Given the description of an element on the screen output the (x, y) to click on. 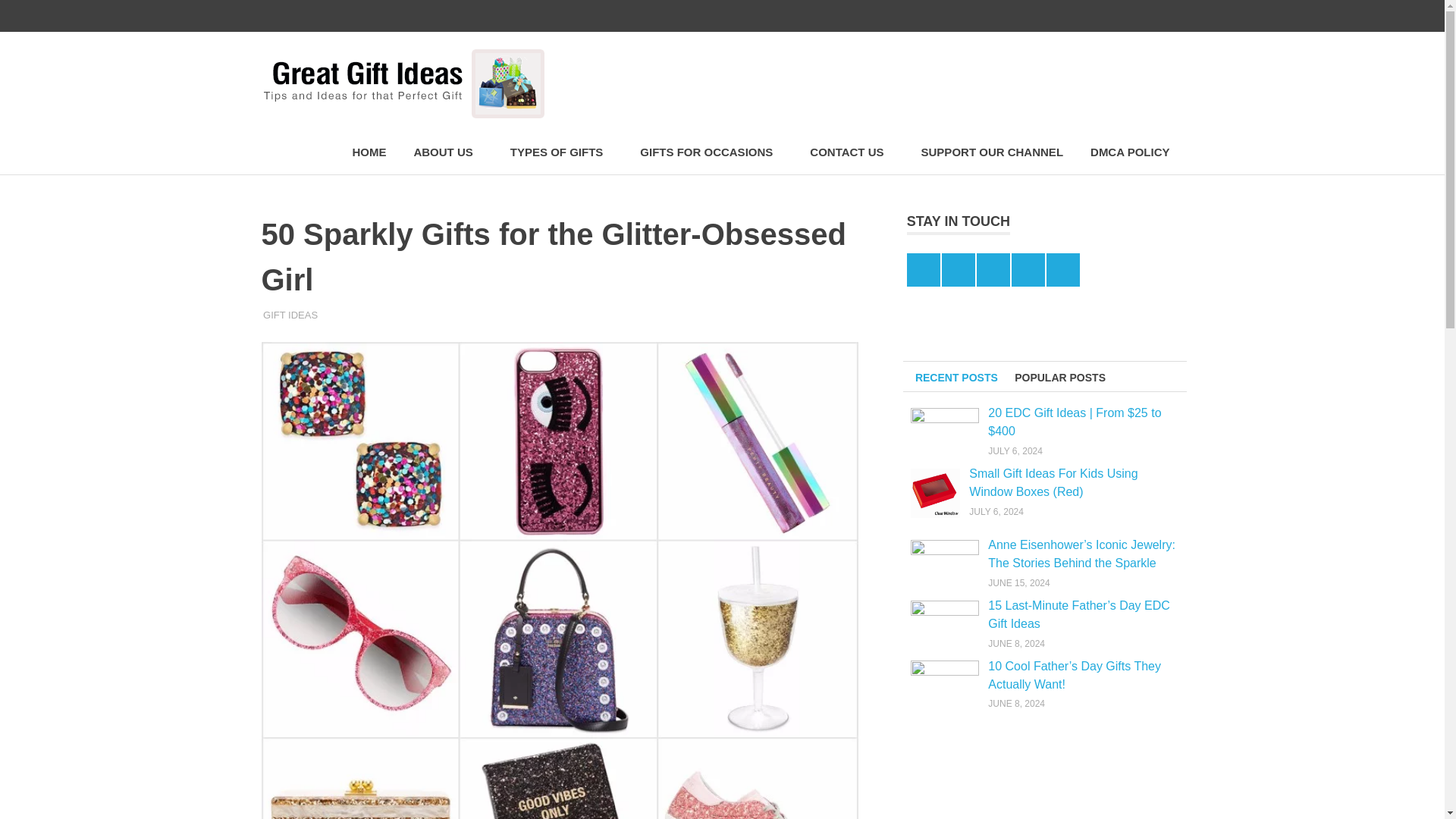
ABOUT US (447, 152)
pin (1103, 15)
tmb (1071, 15)
View all posts by Nicola (281, 315)
TYPES OF GIFTS (561, 152)
rss (1166, 15)
insta (1135, 15)
HOME (367, 152)
8:32 am (309, 315)
f (1039, 15)
